Given the description of an element on the screen output the (x, y) to click on. 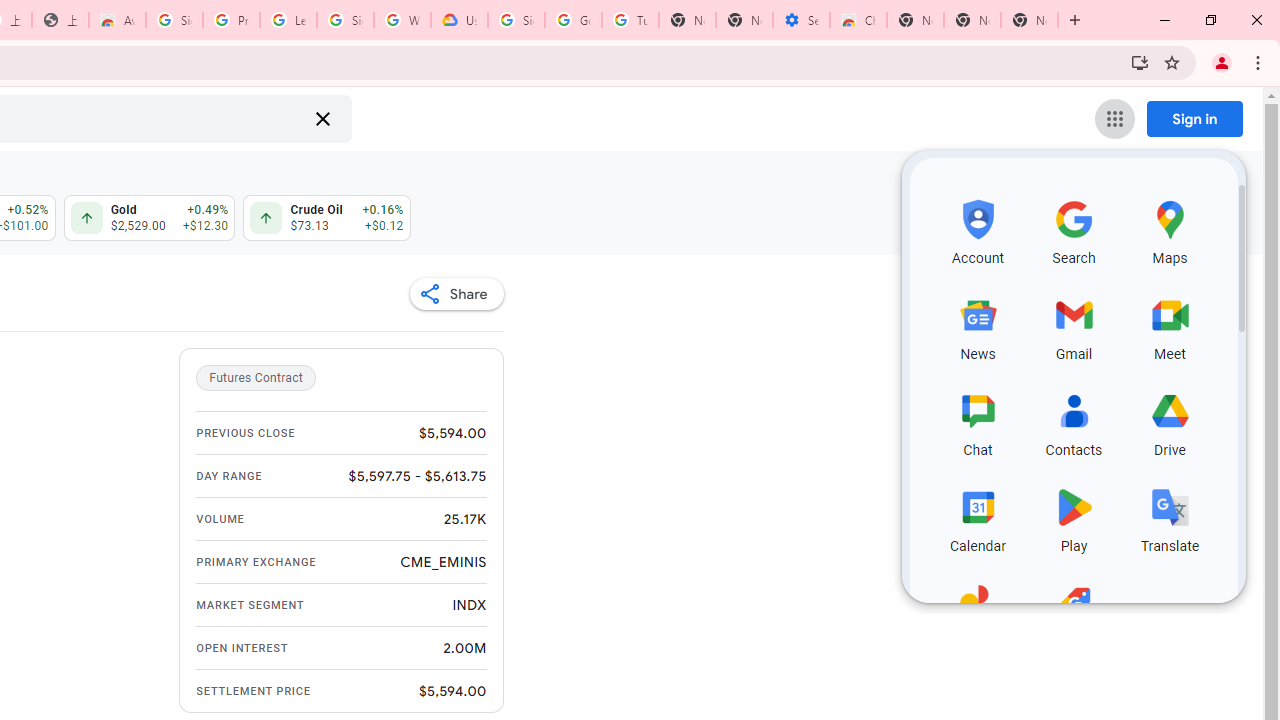
Who are Google's partners? - Privacy and conditions - Google (402, 20)
New Tab (1029, 20)
Chrome Web Store - Accessibility extensions (858, 20)
Sign in - Google Accounts (516, 20)
Google Account Help (573, 20)
Settings - Accessibility (801, 20)
Crude Oil $73.13 Up by 0.16% +$0.12 (326, 218)
Awesome Screen Recorder & Screenshot - Chrome Web Store (116, 20)
Sign in - Google Accounts (345, 20)
